Given the description of an element on the screen output the (x, y) to click on. 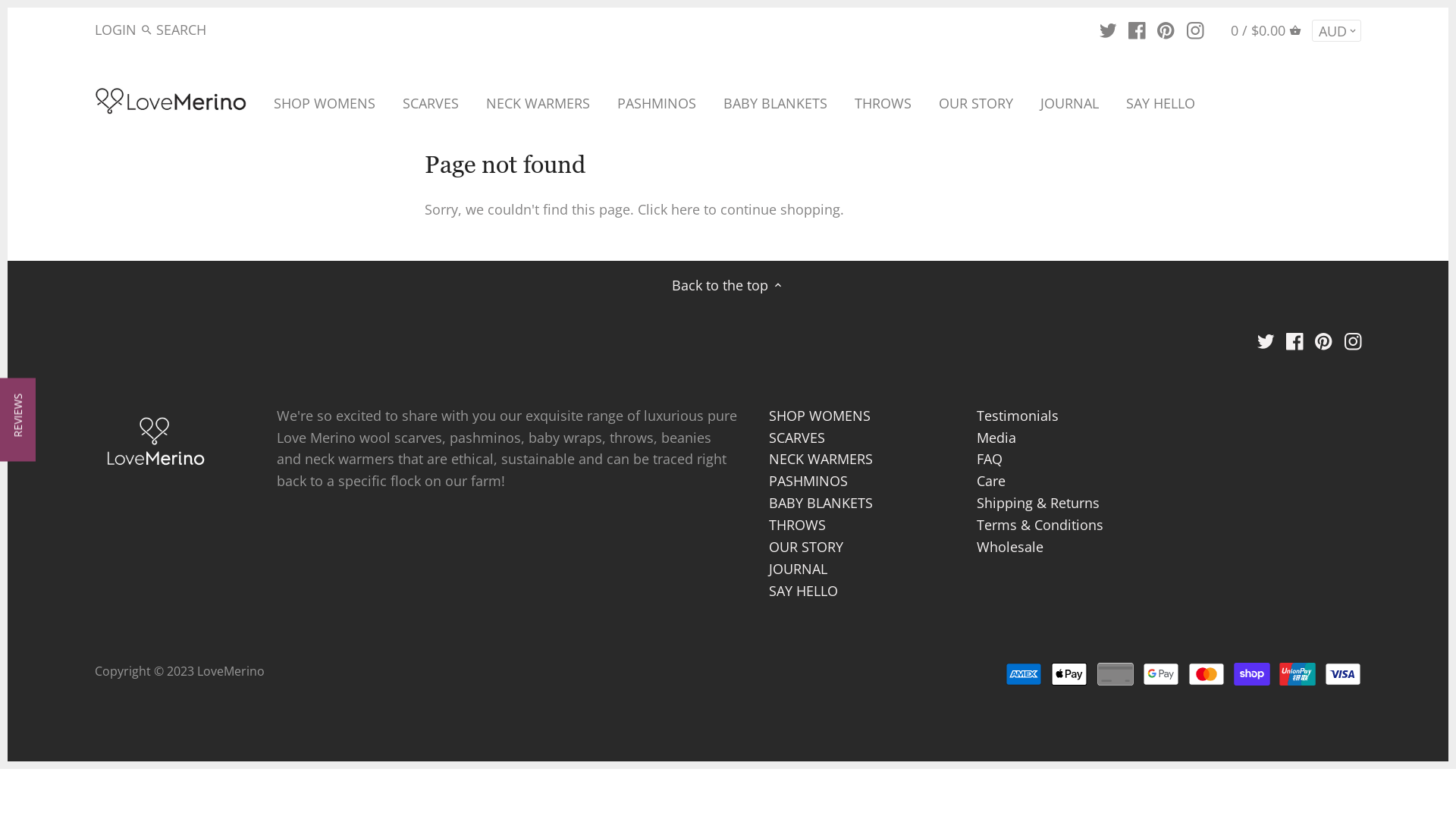
SCARVES Element type: text (430, 106)
Testimonials Element type: text (1017, 415)
JOURNAL Element type: text (1069, 106)
PASHMINOS Element type: text (656, 106)
NECK WARMERS Element type: text (820, 458)
Instagram Element type: text (1352, 339)
Search Element type: text (146, 31)
SHOP WOMENS Element type: text (331, 106)
PASHMINOS Element type: text (807, 480)
Terms & Conditions Element type: text (1039, 524)
THROWS Element type: text (796, 524)
Media Element type: text (996, 436)
Pinterest Element type: text (1323, 339)
Facebook Element type: text (1294, 339)
0 / $0.00 CART Element type: text (1265, 29)
Back to the top Element type: text (727, 284)
SHOP WOMENS Element type: text (819, 415)
THROWS Element type: text (882, 106)
Twitter Element type: text (1265, 339)
Shipping & Returns Element type: text (1037, 502)
BABY BLANKETS Element type: text (774, 106)
Wholesale Element type: text (1009, 546)
BABY BLANKETS Element type: text (820, 502)
SAY HELLO Element type: text (802, 590)
SCARVES Element type: text (796, 436)
OUR STORY Element type: text (805, 546)
LoveMerino Element type: text (230, 670)
INSTAGRAM Element type: text (1194, 28)
FACEBOOK Element type: text (1136, 28)
OUR STORY Element type: text (975, 106)
Click here Element type: text (668, 209)
JOURNAL Element type: text (797, 568)
TWITTER Element type: text (1108, 28)
PINTEREST Element type: text (1165, 28)
LOGIN Element type: text (115, 29)
NECK WARMERS Element type: text (537, 106)
FAQ Element type: text (989, 458)
SAY HELLO Element type: text (1160, 106)
Care Element type: text (990, 480)
